Given the description of an element on the screen output the (x, y) to click on. 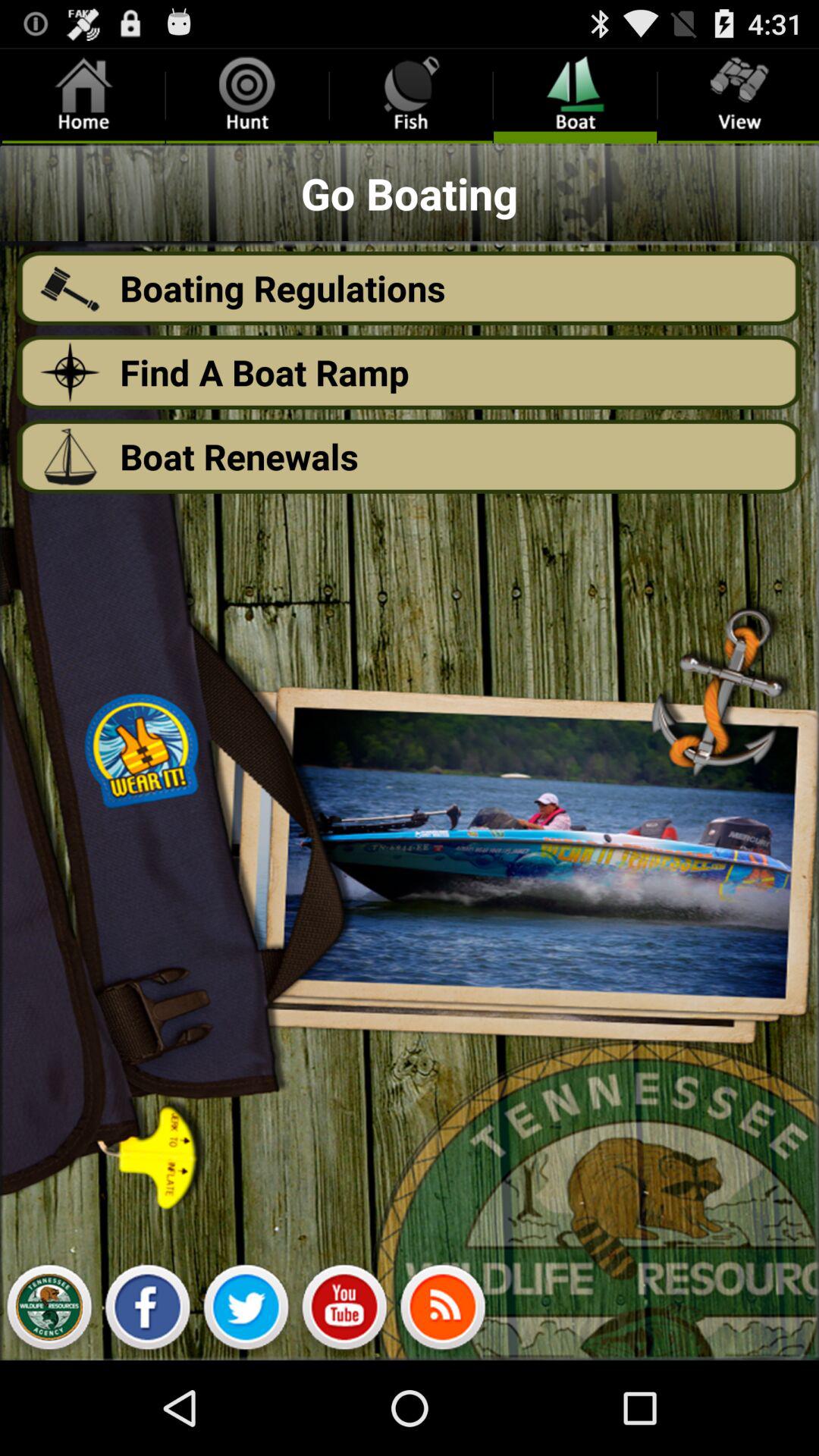
share with youtube (344, 1311)
